Given the description of an element on the screen output the (x, y) to click on. 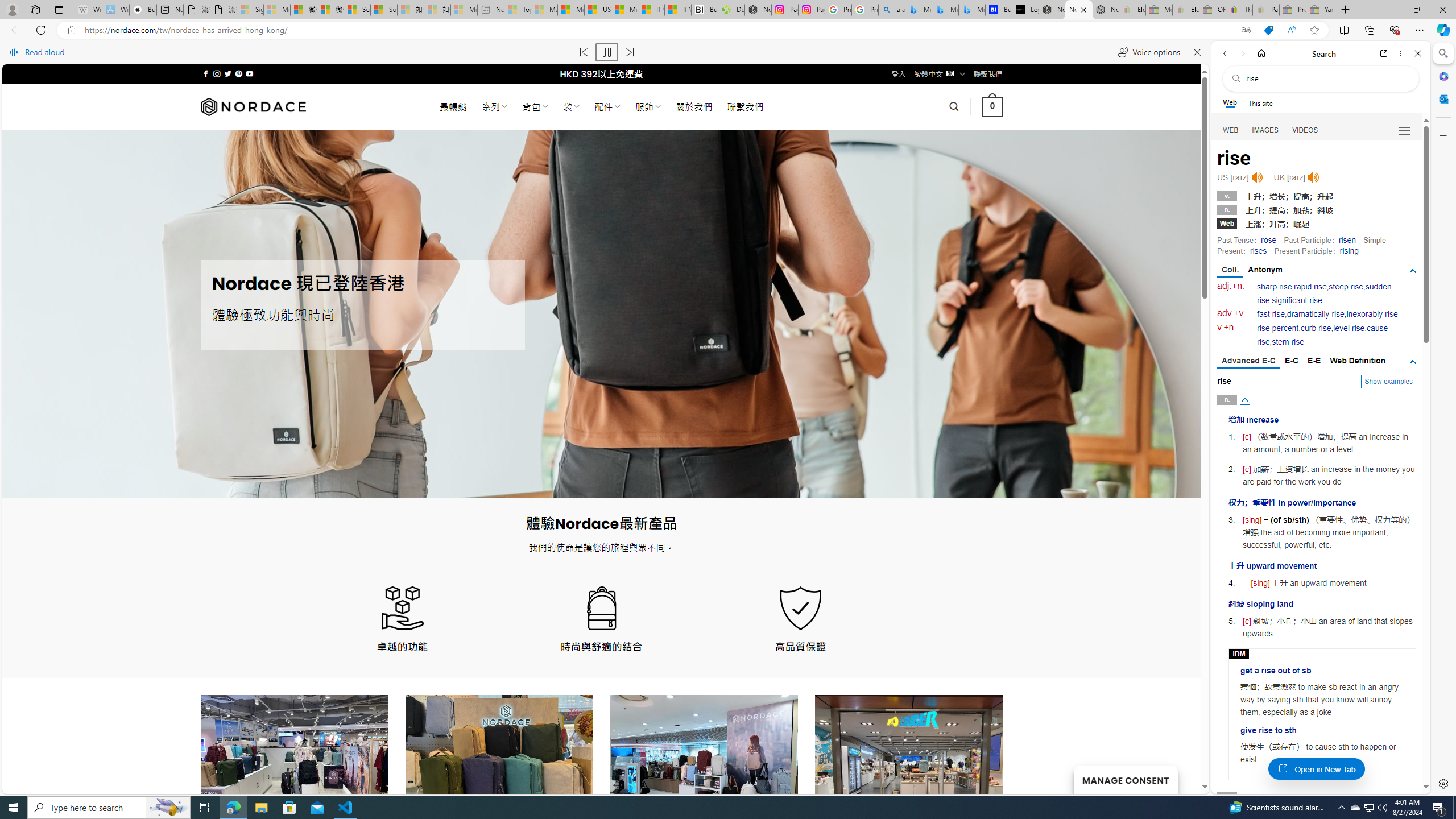
Advanced E-C (1248, 361)
AutomationID: tgdef (1412, 362)
Pause read aloud (Ctrl+Shift+U) (606, 52)
